Given the description of an element on the screen output the (x, y) to click on. 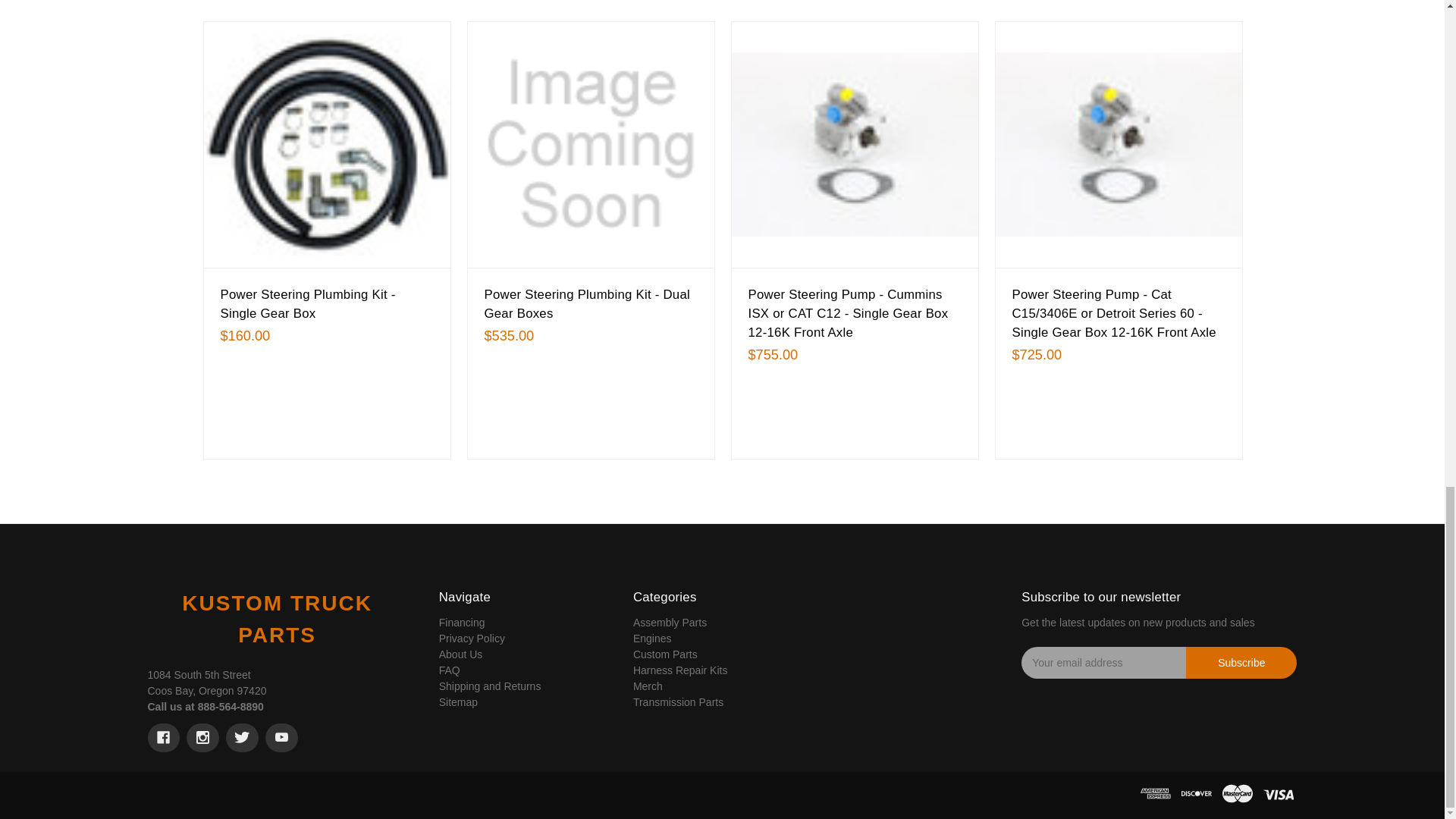
Power Steering Plumbing Kit - Single Gear Box (326, 144)
A TRW EV Series Power Steering Pump with Right Hand Rotation (854, 144)
A TRW EV Series Power Steering Pump with Left Hand Rotation (1118, 144)
